Given the description of an element on the screen output the (x, y) to click on. 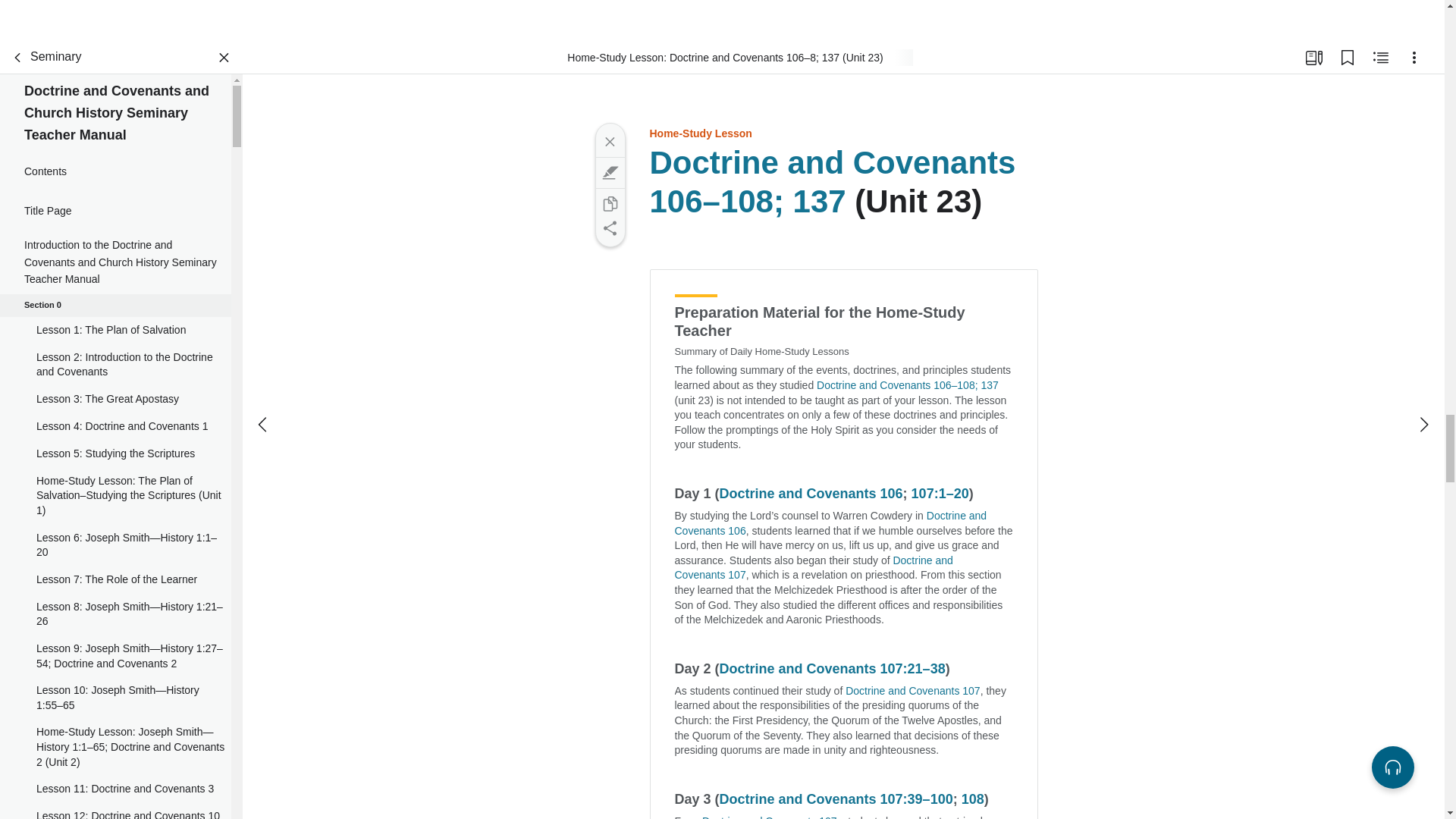
Related Content (1380, 57)
Bookmarks (1347, 57)
Contents (115, 170)
Mark (608, 172)
Study Sets (1313, 57)
Close (608, 141)
Options (1414, 57)
Lesson 7: The Role of the Learner (115, 579)
Title Page (115, 210)
